Given the description of an element on the screen output the (x, y) to click on. 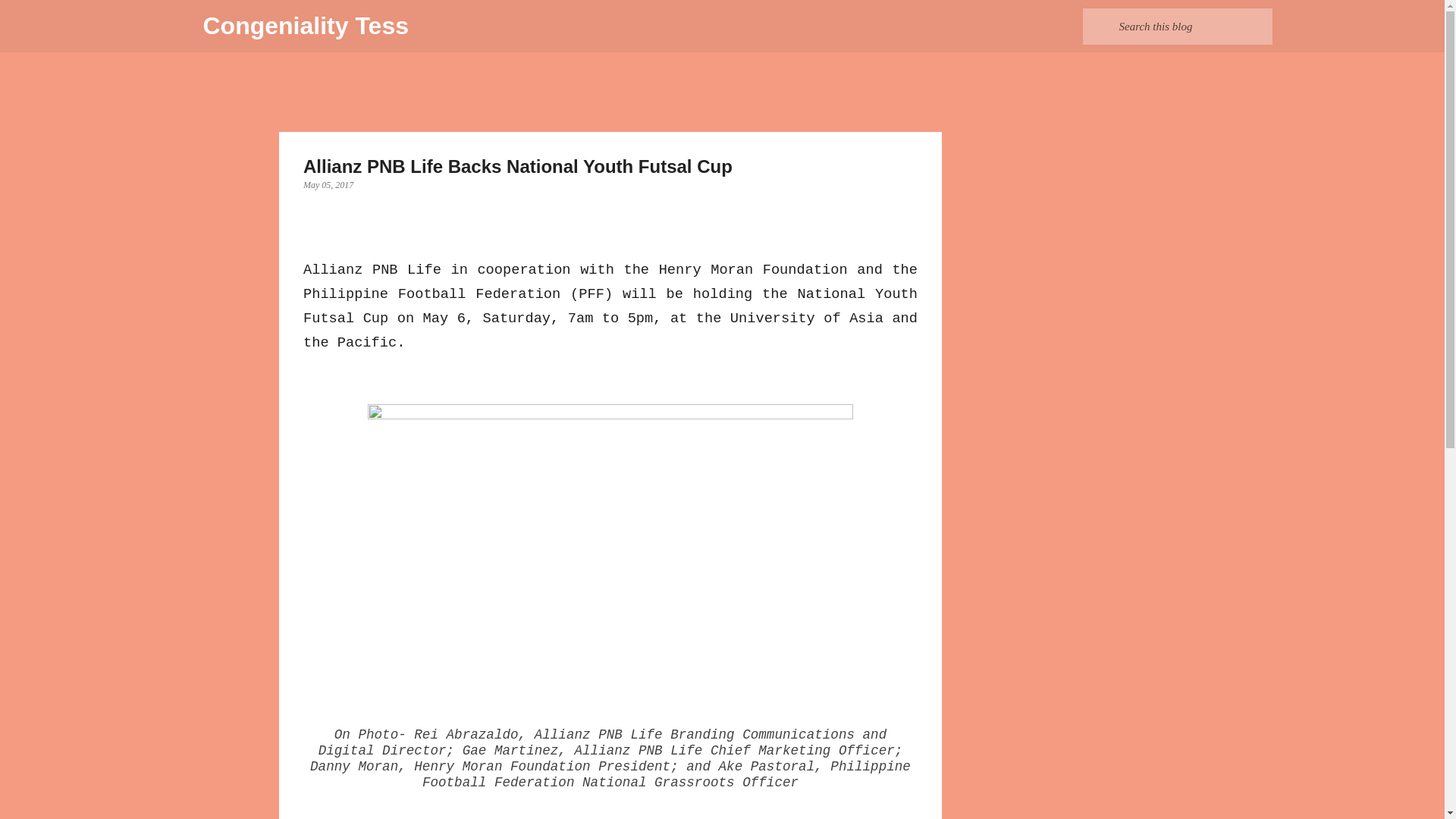
May 05, 2017 (327, 184)
Congeniality Tess (306, 25)
permanent link (327, 184)
